Given the description of an element on the screen output the (x, y) to click on. 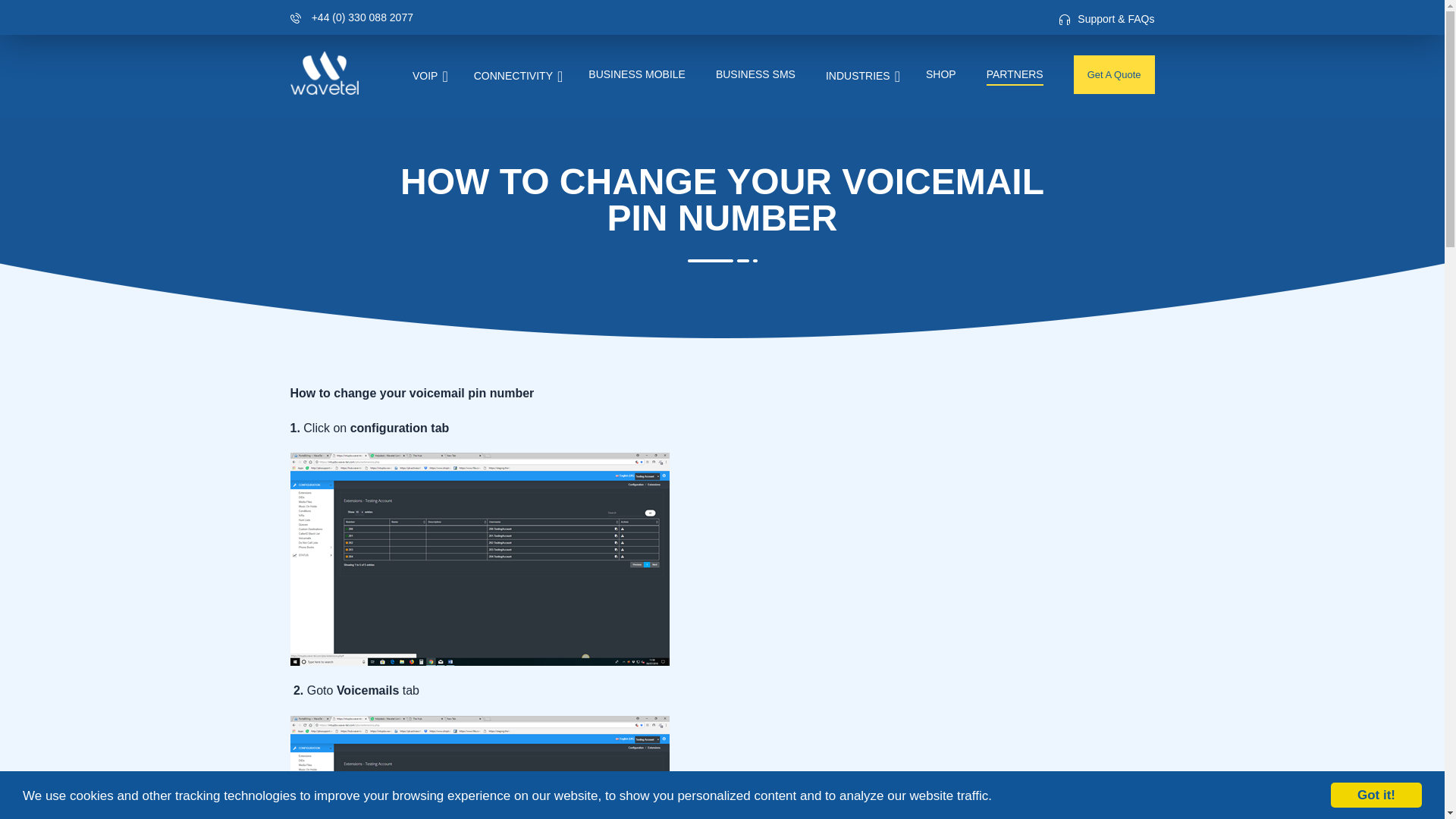
VOIP (412, 76)
BUSINESS SMS (739, 73)
CONNECTIVITY (501, 76)
BUSINESS MOBILE (621, 73)
